Given the description of an element on the screen output the (x, y) to click on. 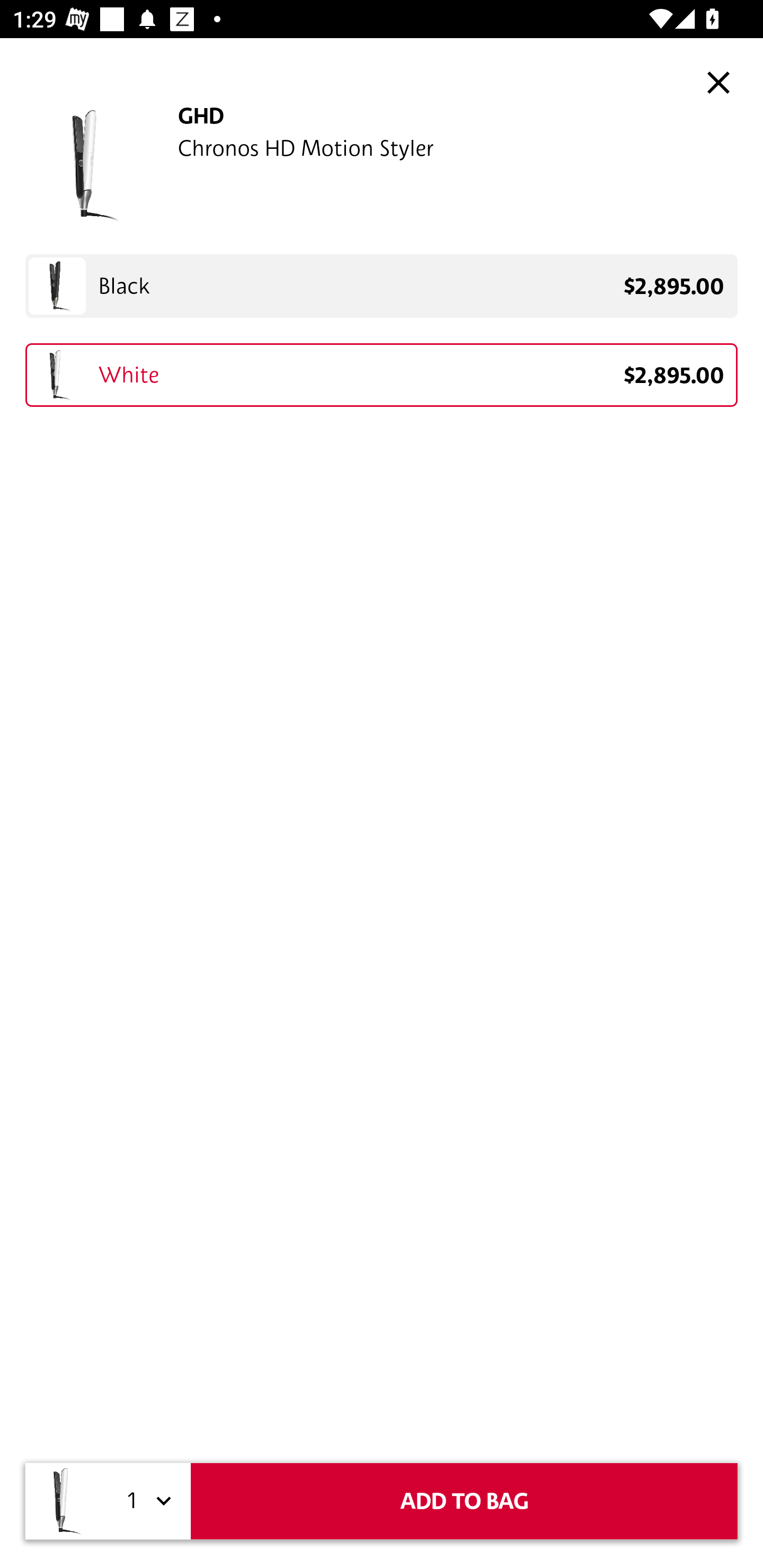
image description (718, 81)
GHD Chronos HD Motion Styler (381, 164)
Black $2,895.00 (381, 285)
White $2,895.00 (381, 375)
1 (145, 1500)
ADD TO BAG (463, 1500)
